Given the description of an element on the screen output the (x, y) to click on. 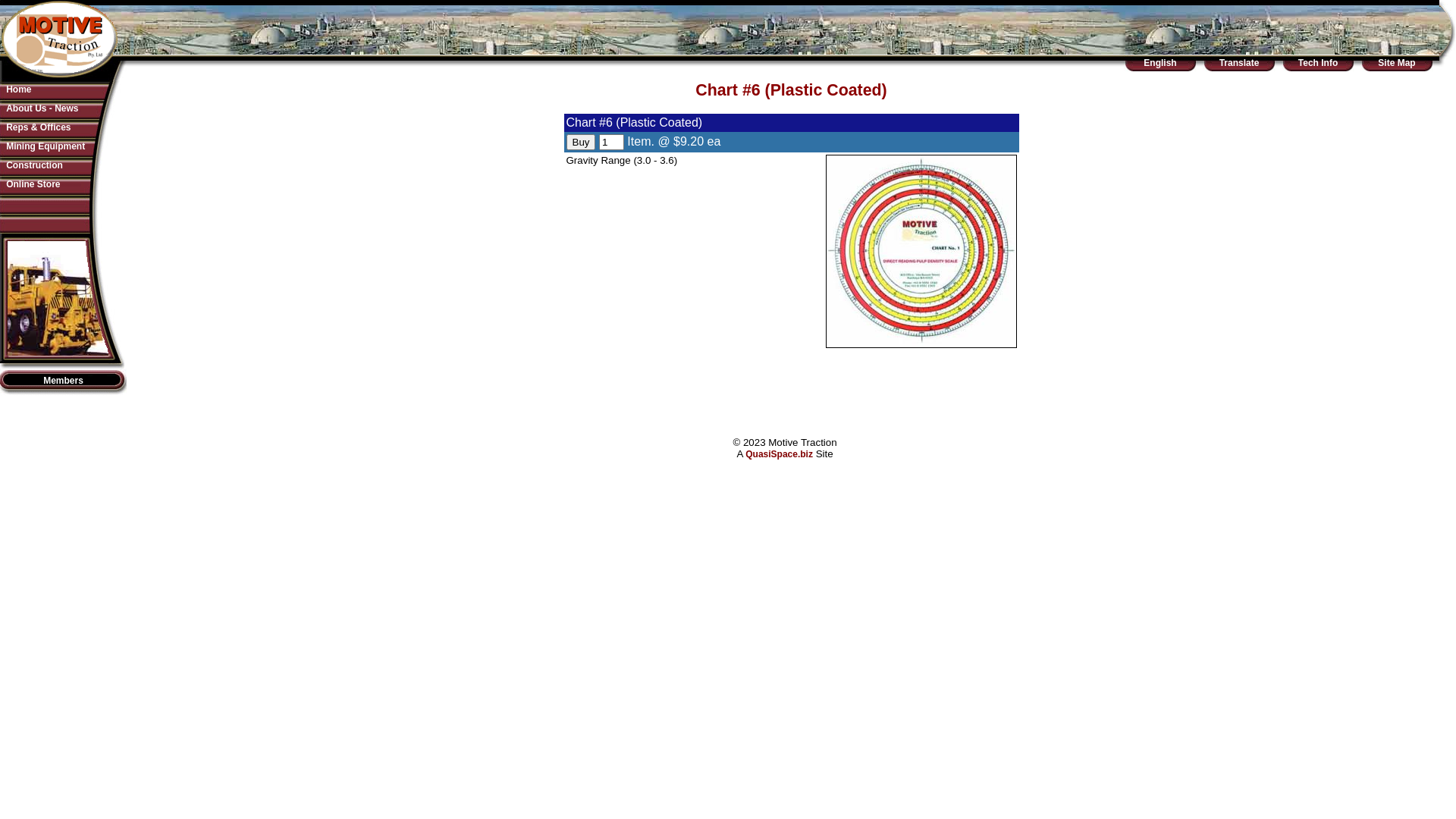
Construction Element type: text (34, 165)
Translate Element type: text (1239, 62)
English Element type: text (1159, 62)
Site Map Element type: text (1396, 62)
Reps & Offices Element type: text (38, 127)
Online Store Element type: text (32, 183)
Home Element type: text (18, 89)
Tech Info Element type: text (1317, 62)
Members Element type: text (63, 380)
QuasiSpace.biz Element type: text (778, 453)
Mining Equipment Element type: text (45, 146)
About Us - News Element type: text (42, 108)
